Given the description of an element on the screen output the (x, y) to click on. 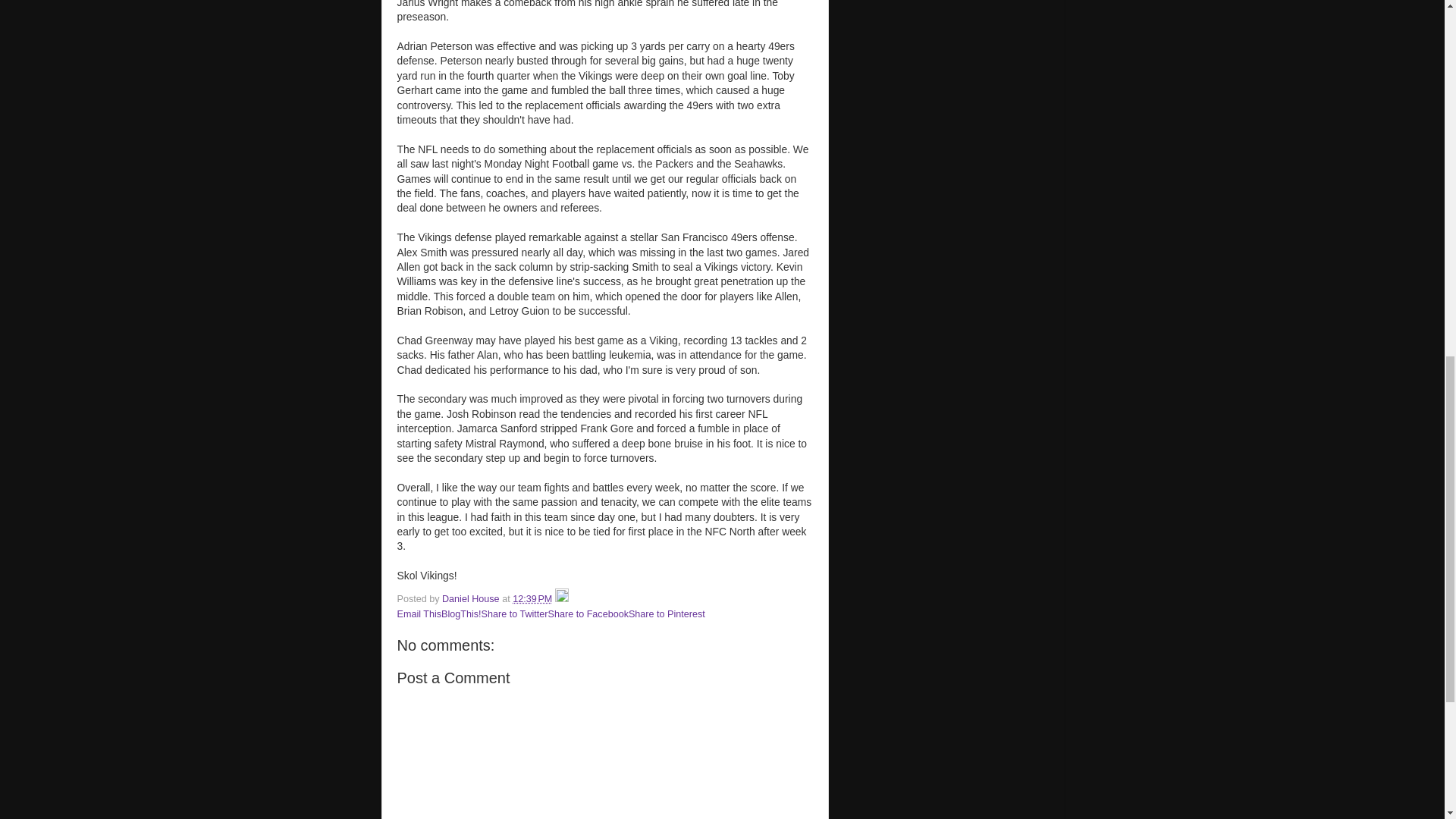
Share to Pinterest (666, 614)
Share to Twitter (514, 614)
Email This (419, 614)
Email This (419, 614)
BlogThis! (461, 614)
Daniel House (472, 598)
author profile (472, 598)
Edit Post (561, 598)
Share to Facebook (588, 614)
Share to Twitter (514, 614)
